Given the description of an element on the screen output the (x, y) to click on. 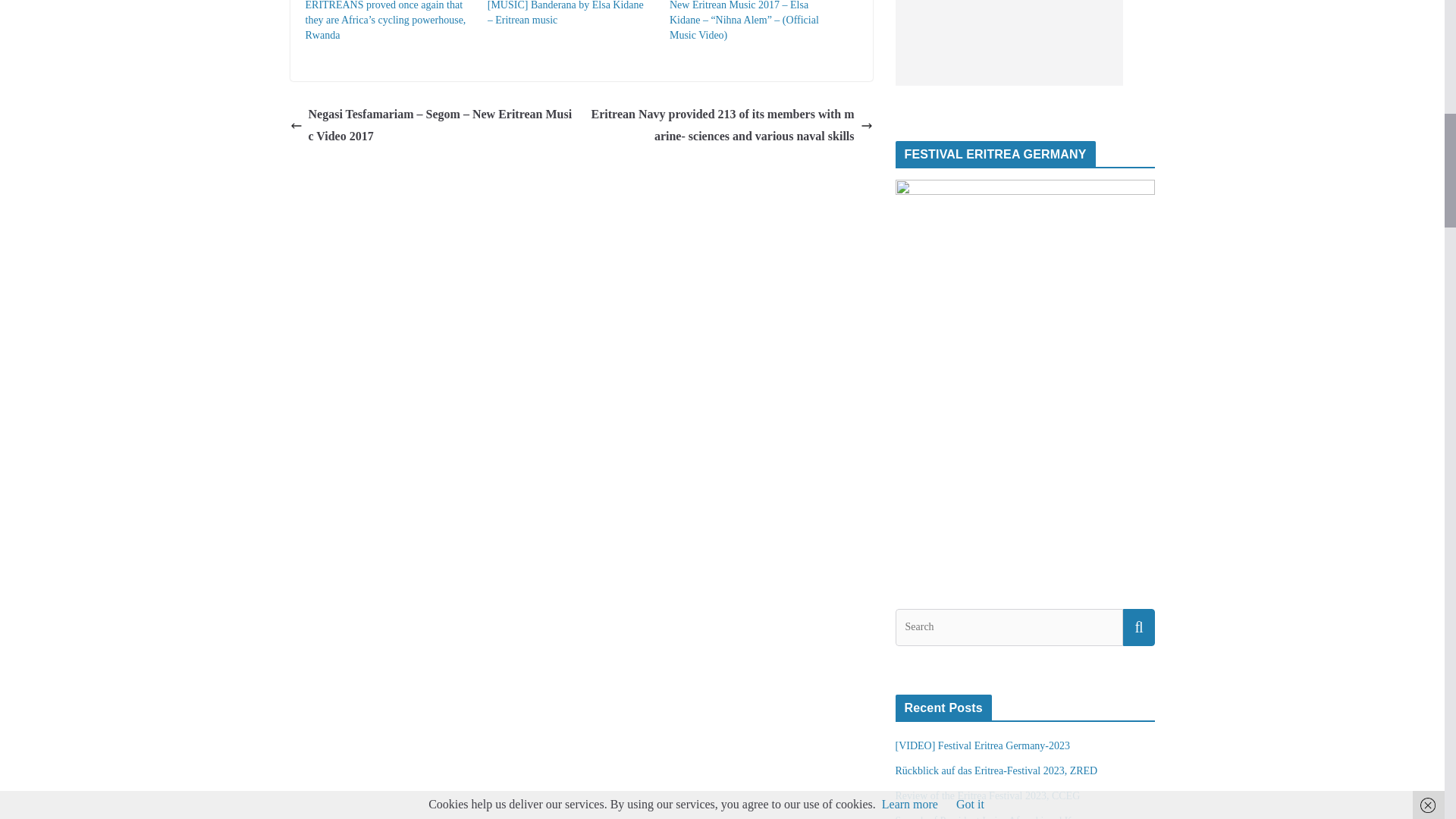
Review of the Eritrea Festival 2023, CCEG (987, 795)
Speech of President Isaias Afwerki and Kenyan new President (1006, 816)
Advertisement (1008, 42)
